Given the description of an element on the screen output the (x, y) to click on. 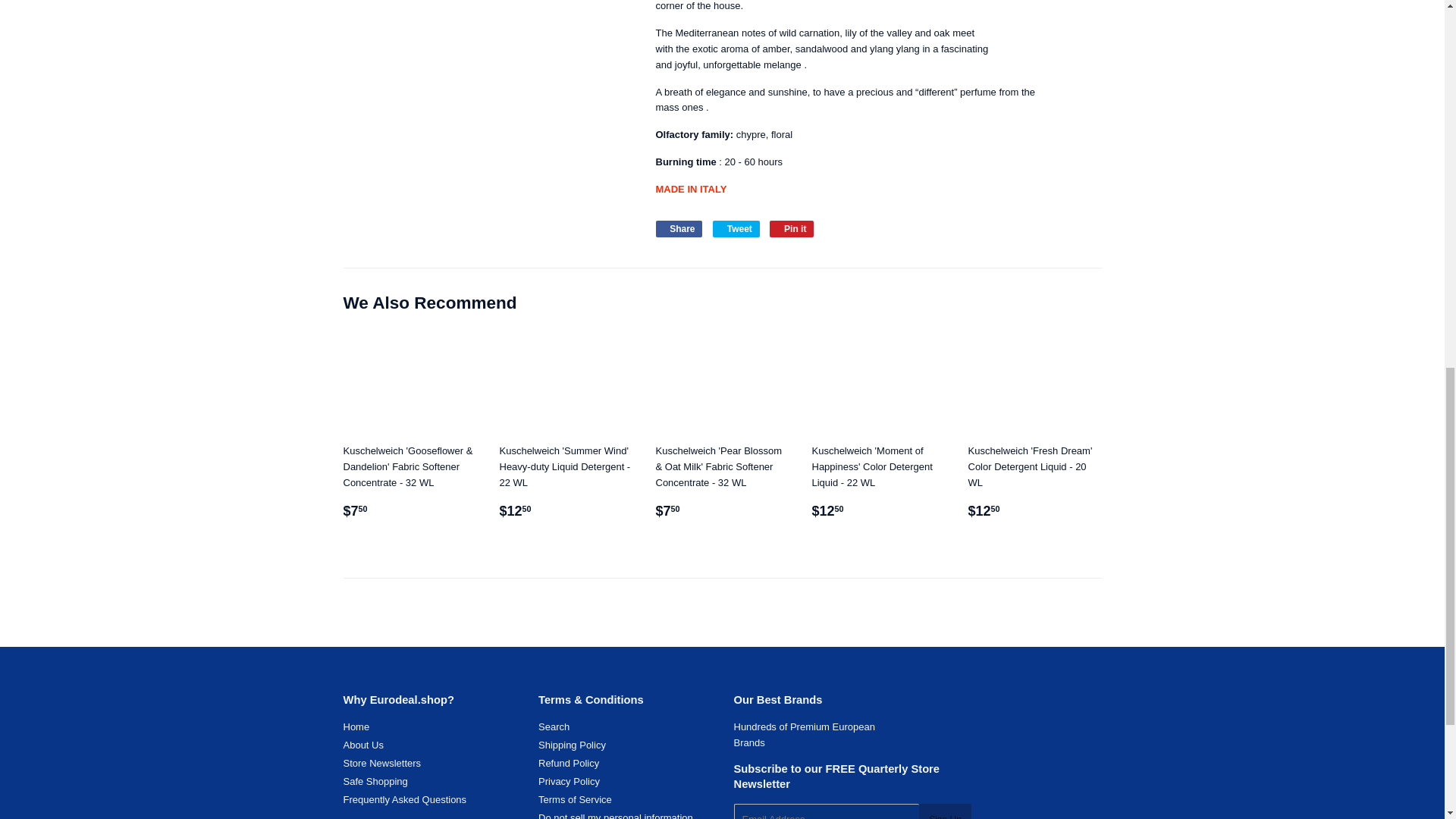
Tweet on Twitter (736, 228)
Share on Facebook (678, 228)
Pin on Pinterest (791, 228)
